Given the description of an element on the screen output the (x, y) to click on. 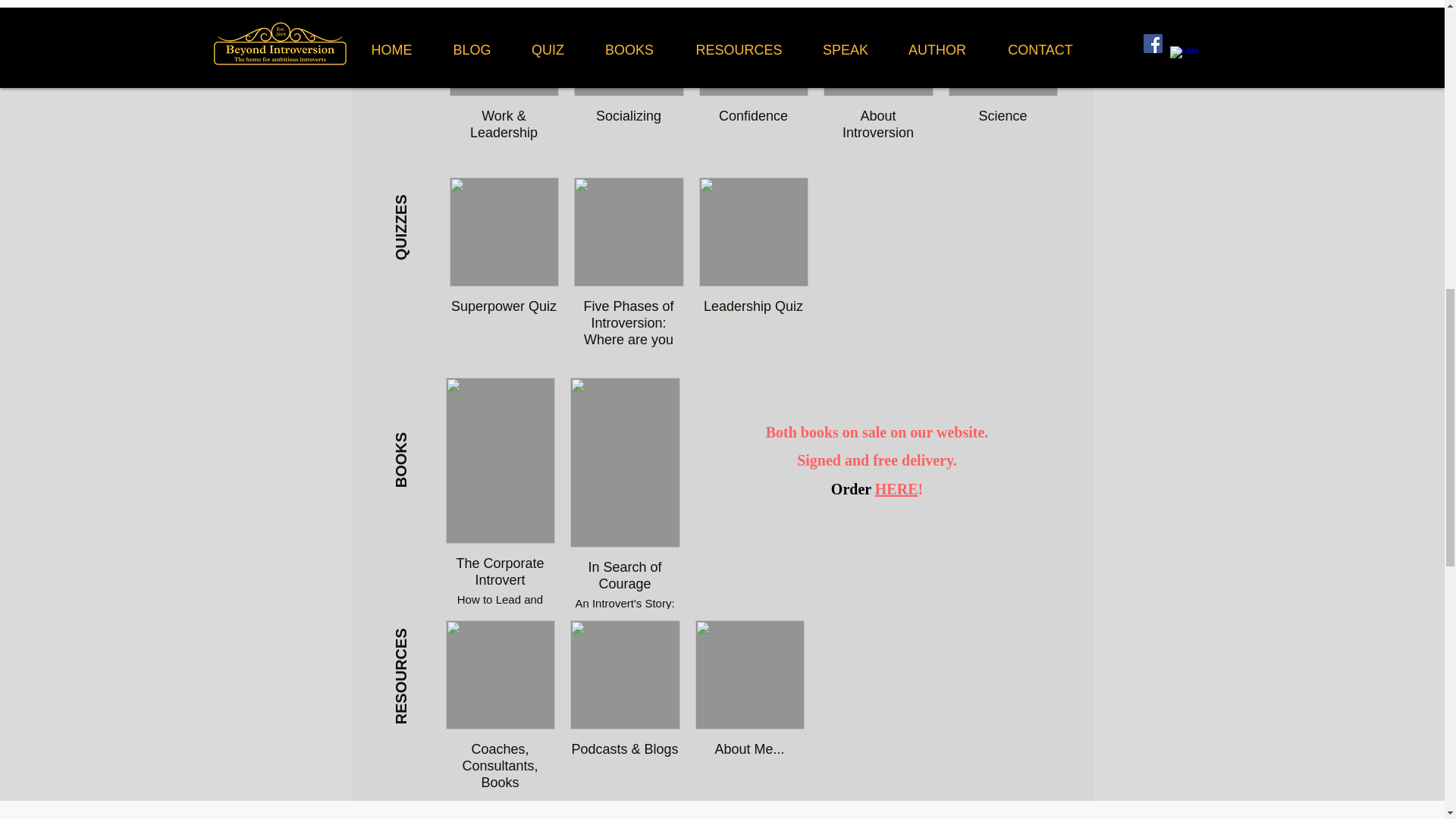
HERE (896, 488)
Both books on sale on our website. (876, 432)
